Given the description of an element on the screen output the (x, y) to click on. 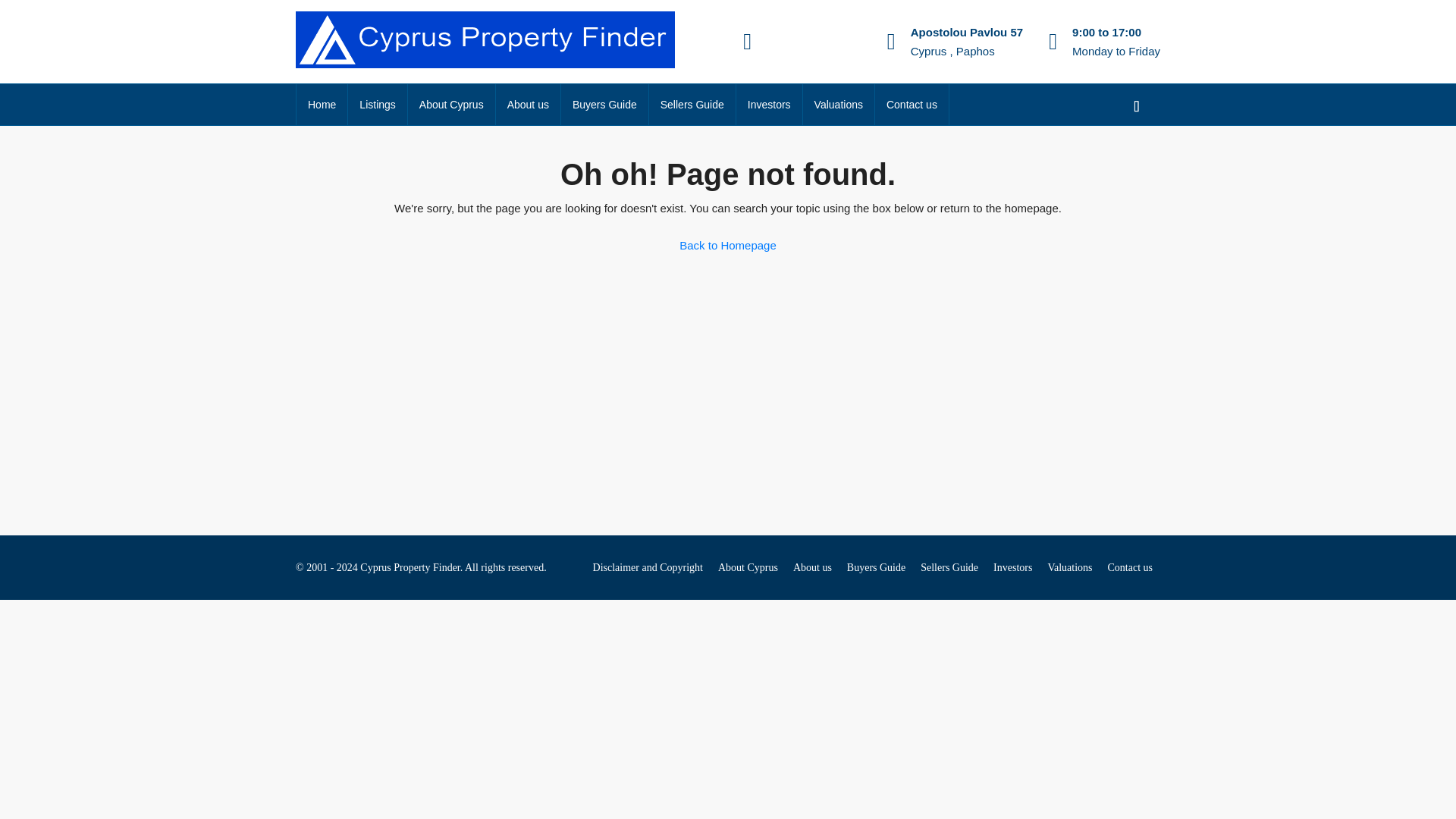
Listings (376, 104)
Back to Homepage (727, 245)
Buyers Guide (876, 567)
Sellers Guide (692, 104)
Buyers Guide (603, 104)
About us (528, 104)
Valuations (839, 104)
Investors (1012, 567)
About Cyprus (747, 567)
Home (322, 104)
